Given the description of an element on the screen output the (x, y) to click on. 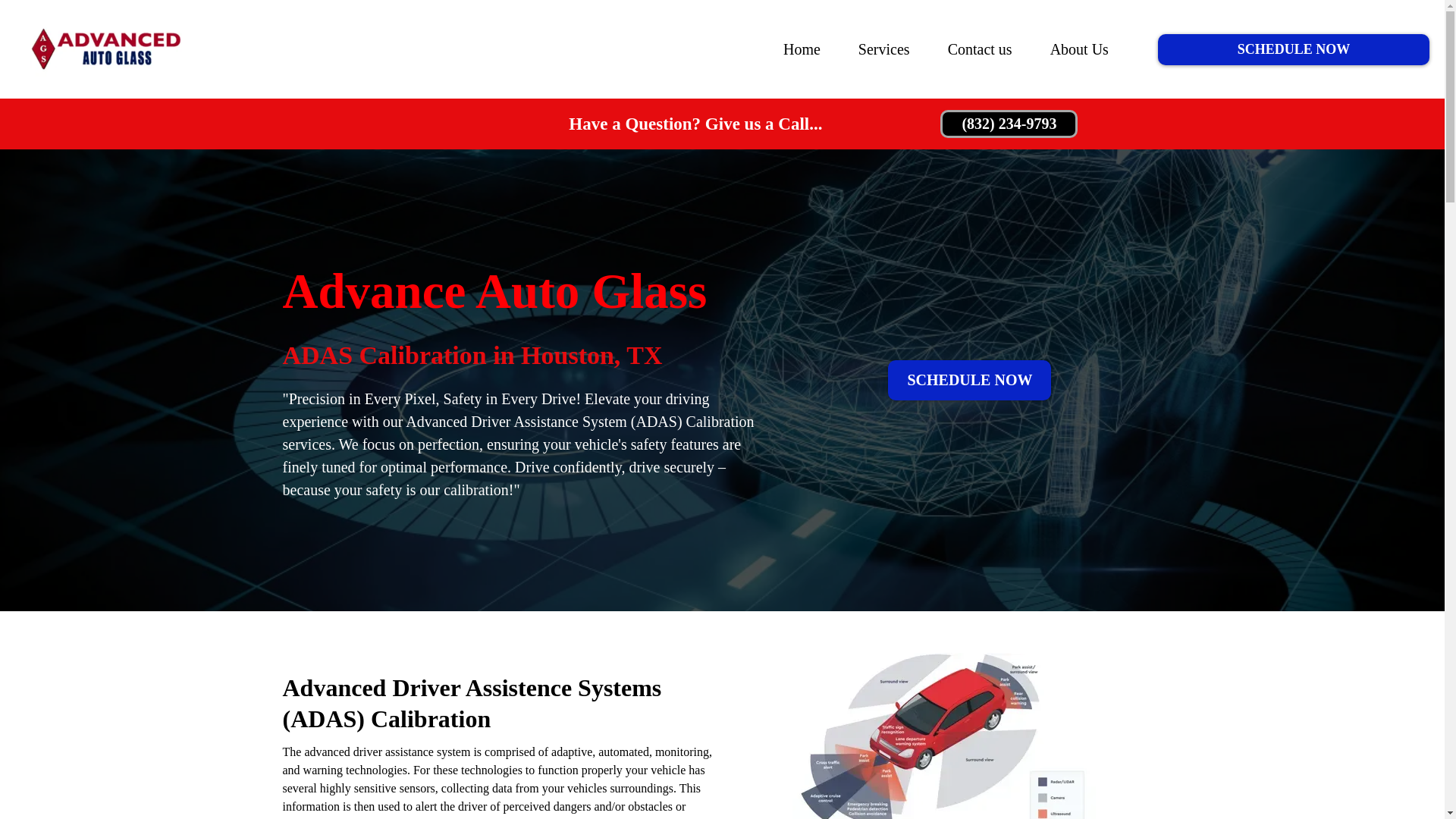
SCHEDULE NOW (969, 380)
Services (884, 49)
About Us (1078, 49)
Home (802, 49)
Contact us (979, 49)
SCHEDULE NOW (1293, 48)
